Given the description of an element on the screen output the (x, y) to click on. 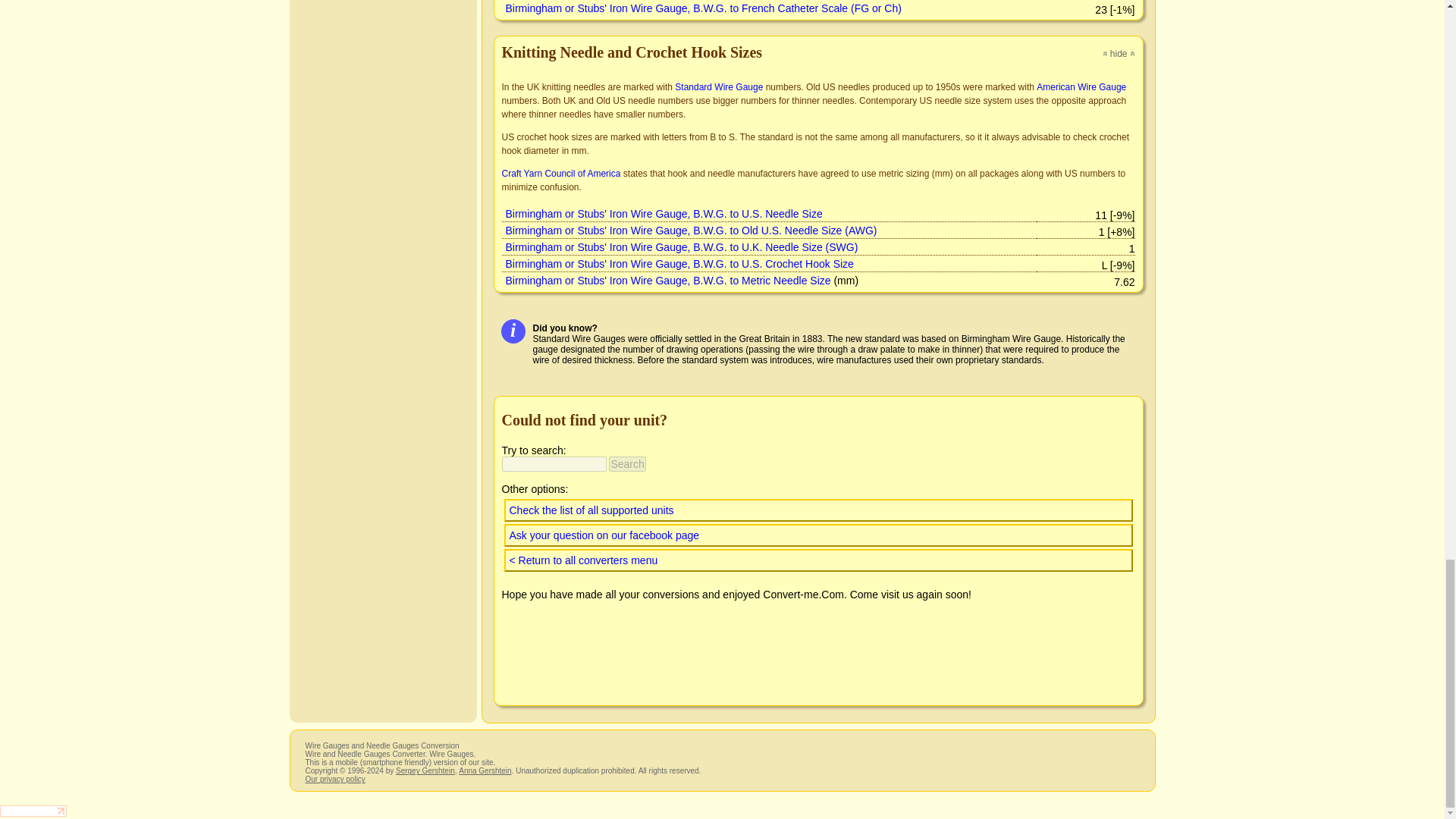
LiveInternet counter (33, 810)
Search (626, 463)
